Given the description of an element on the screen output the (x, y) to click on. 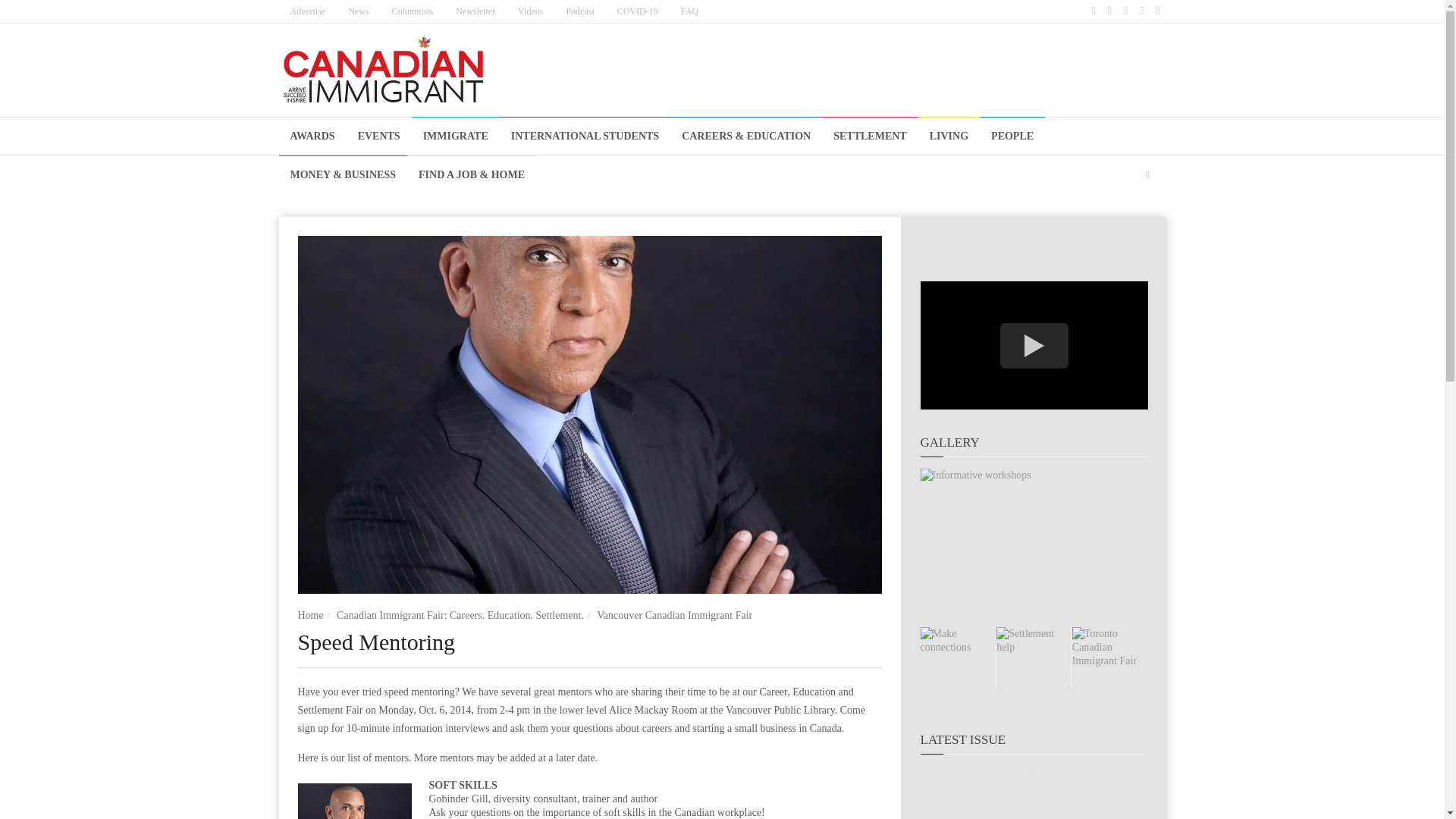
Vancouver Canadian Immigrant Fair (674, 614)
Toronto Canadian Immigrant Fair (1109, 657)
Make connections (957, 657)
Canadian Immigrant Fair: Careers. Education. Settlement. (459, 614)
Settlement help (1033, 657)
Informative workshops (1033, 547)
